Given the description of an element on the screen output the (x, y) to click on. 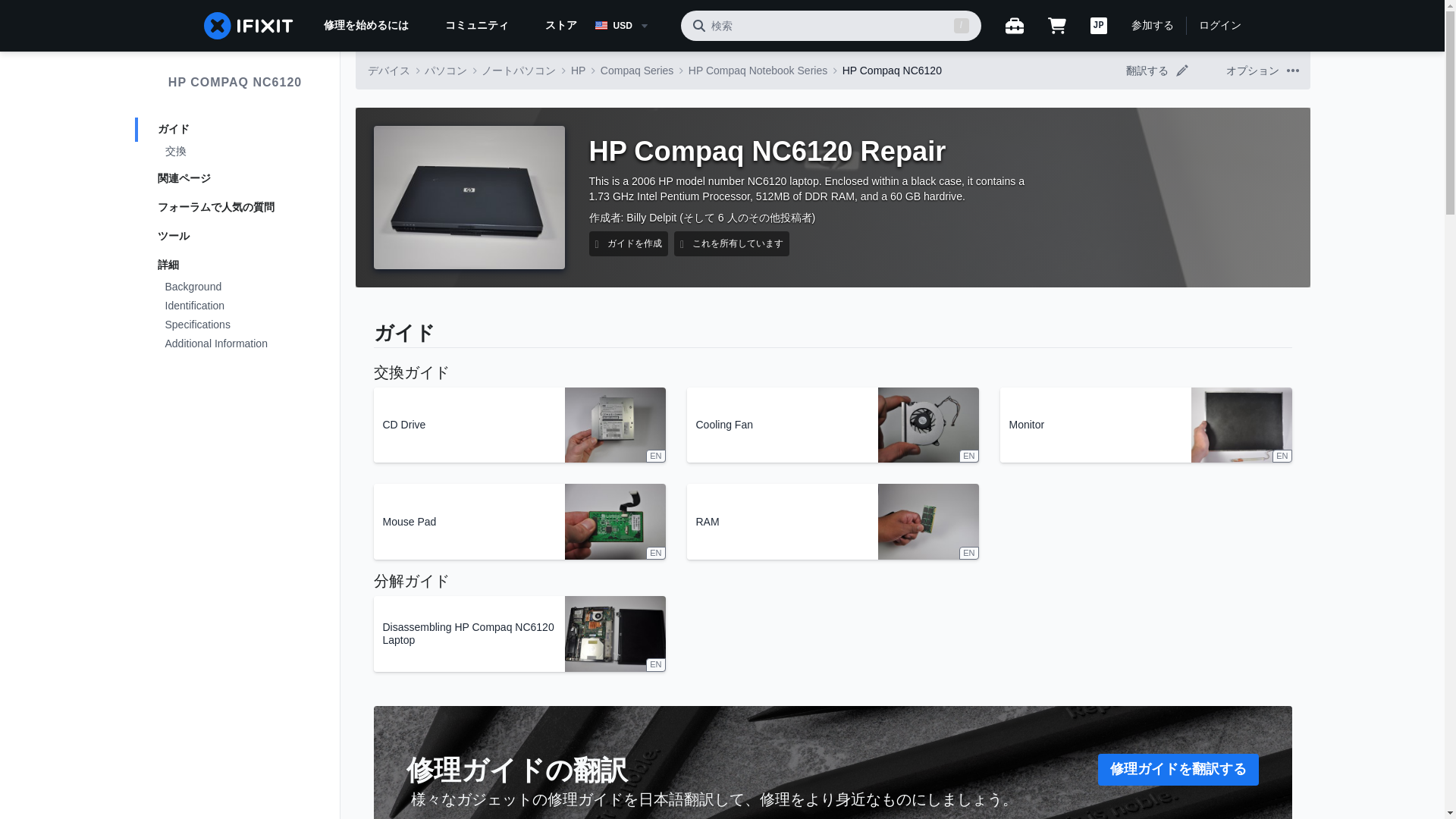
USD (631, 25)
Identification (235, 306)
HP (577, 70)
HP COMPAQ NC6120 (234, 82)
HP Compaq Notebook Series (757, 70)
Background (235, 287)
HP Compaq NC6120 (892, 70)
Additional Information (235, 344)
Specifications (235, 325)
Compaq Series (636, 70)
